Given the description of an element on the screen output the (x, y) to click on. 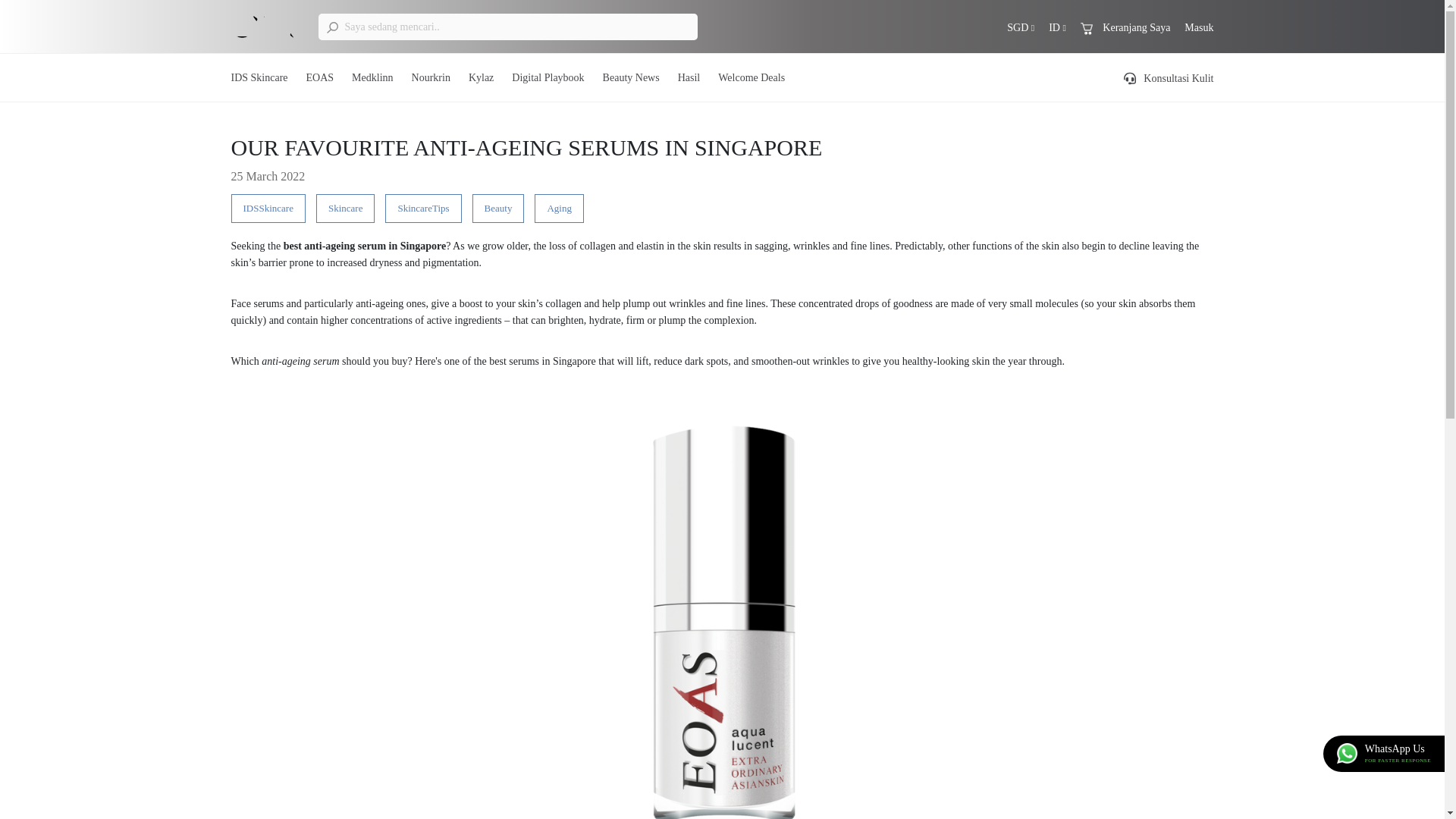
Welcome Deals (750, 77)
Keranjang Saya (1125, 27)
Medklinn (372, 77)
Beauty News (630, 77)
Konsultasi Kulit (1169, 78)
Digital Playbook (547, 77)
Nourkrin (430, 77)
Masuk (1198, 27)
IDS Skincare (258, 77)
IDSSkincare (267, 208)
Kylaz (480, 77)
Hasil (689, 77)
EOAS (319, 77)
